Given the description of an element on the screen output the (x, y) to click on. 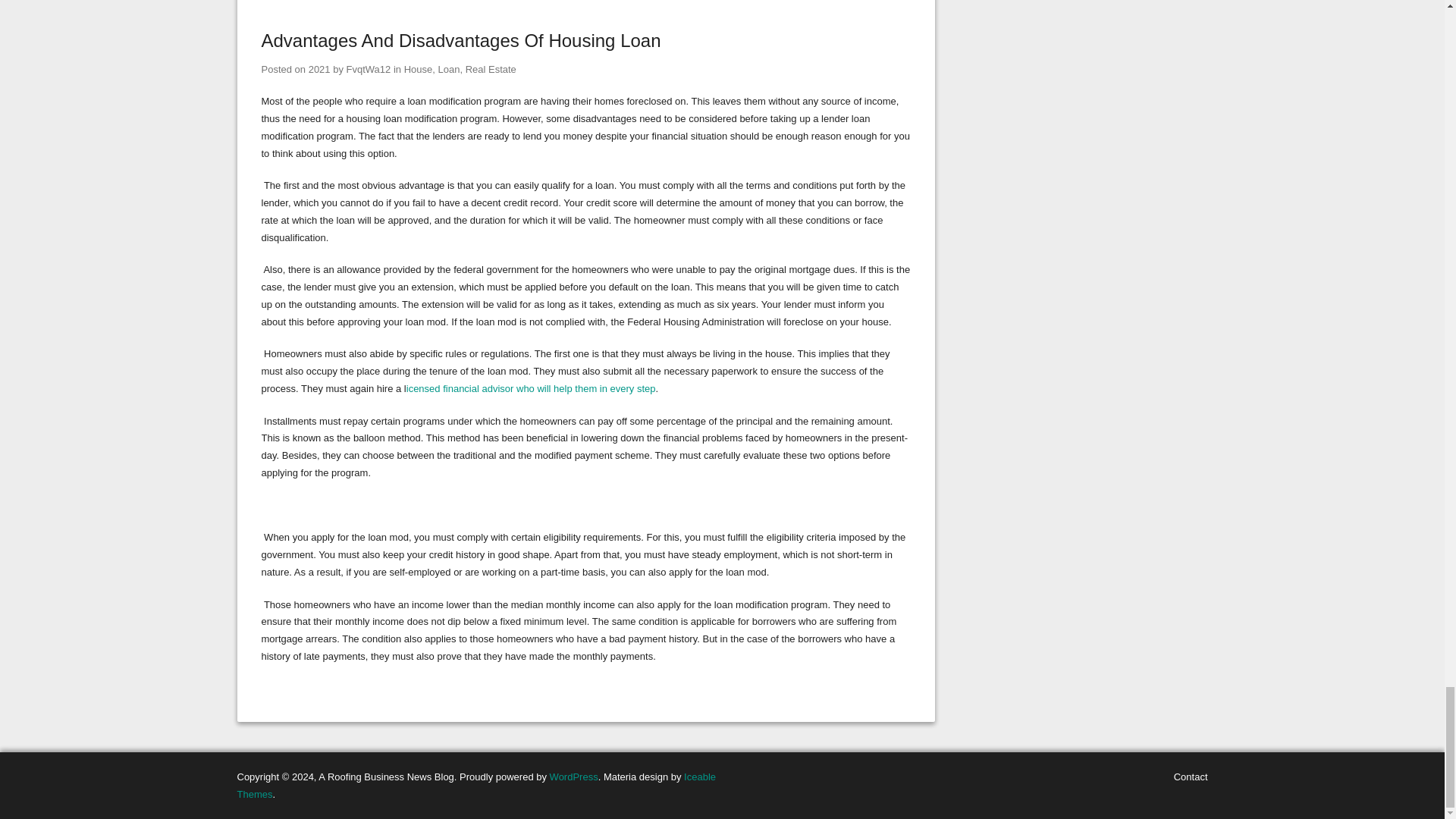
View all posts by FvqtWa12 (368, 69)
Advantages And Disadvantages Of Housing Loan (319, 69)
Free and Premium WordPress Themes (475, 785)
Semantic Personal Publishing Platform (574, 776)
Advantages And Disadvantages Of Housing Loan (460, 40)
